Given the description of an element on the screen output the (x, y) to click on. 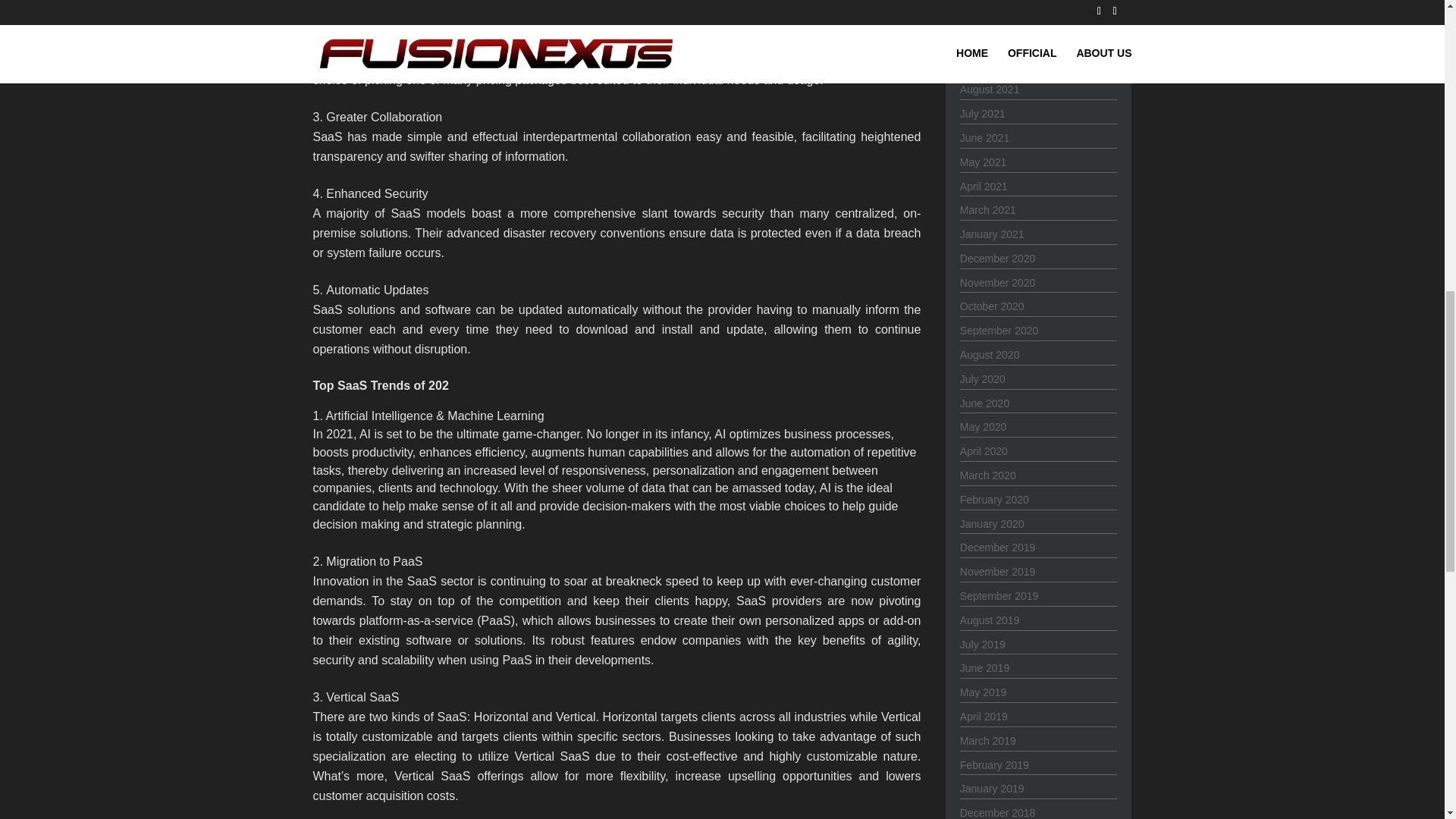
October 2021 (992, 41)
September 2021 (999, 65)
July 2021 (982, 113)
August 2021 (989, 89)
November 2021 (997, 17)
June 2021 (984, 137)
